Given the description of an element on the screen output the (x, y) to click on. 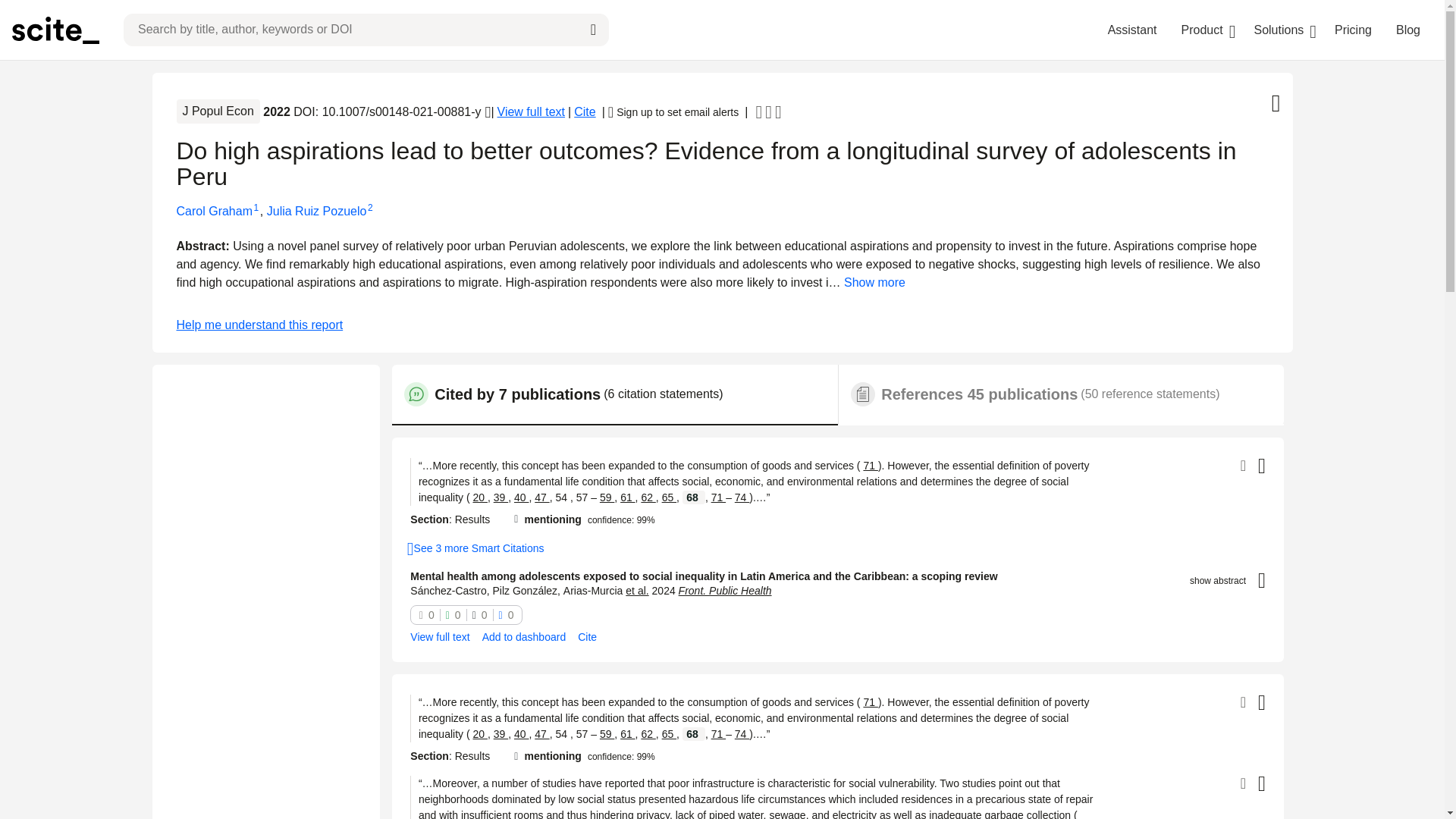
Carol Graham (213, 210)
show abstract (1217, 581)
Front. Public Health (724, 590)
View full text (439, 637)
0000 (466, 614)
J Popul Econ (217, 110)
Solutions (1278, 29)
Cite (587, 637)
Add to dashboard (523, 637)
